Given the description of an element on the screen output the (x, y) to click on. 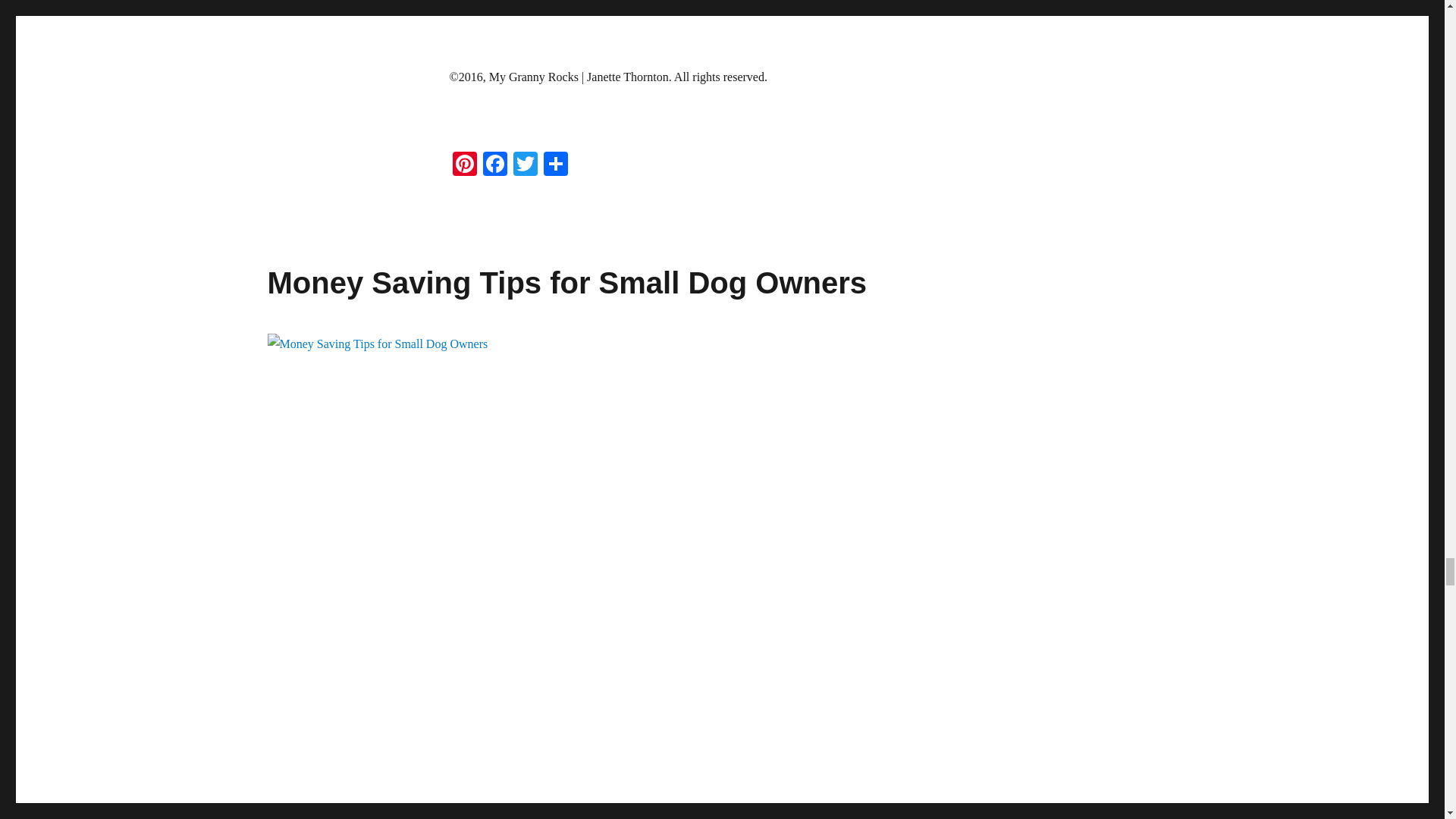
Pinterest (463, 165)
